Given the description of an element on the screen output the (x, y) to click on. 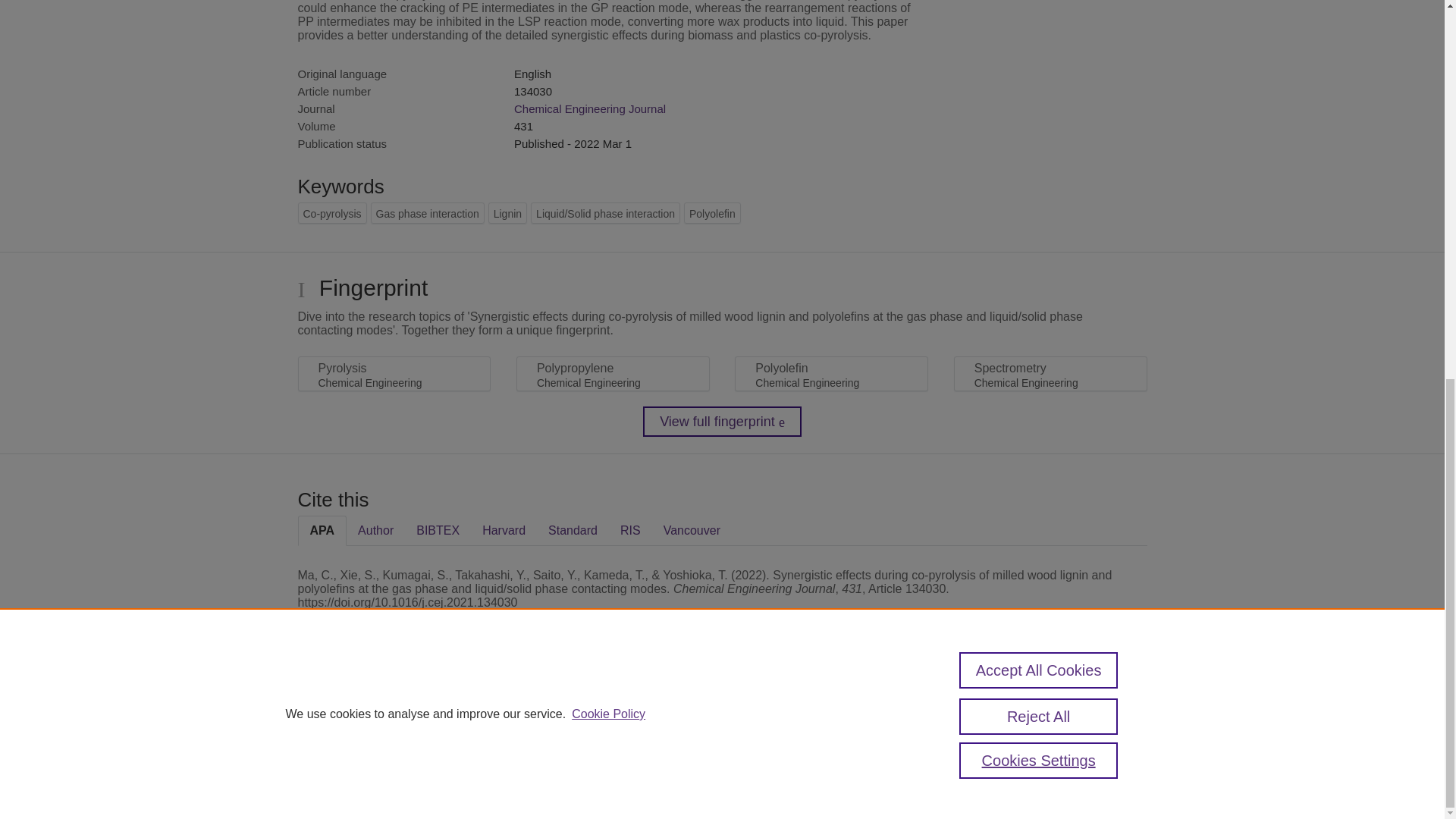
Chemical Engineering Journal (589, 108)
use of cookies (796, 760)
Cookies Settings (334, 781)
Elsevier B.V. (506, 728)
View full fingerprint (722, 421)
Scopus (394, 708)
Pure (362, 708)
